Given the description of an element on the screen output the (x, y) to click on. 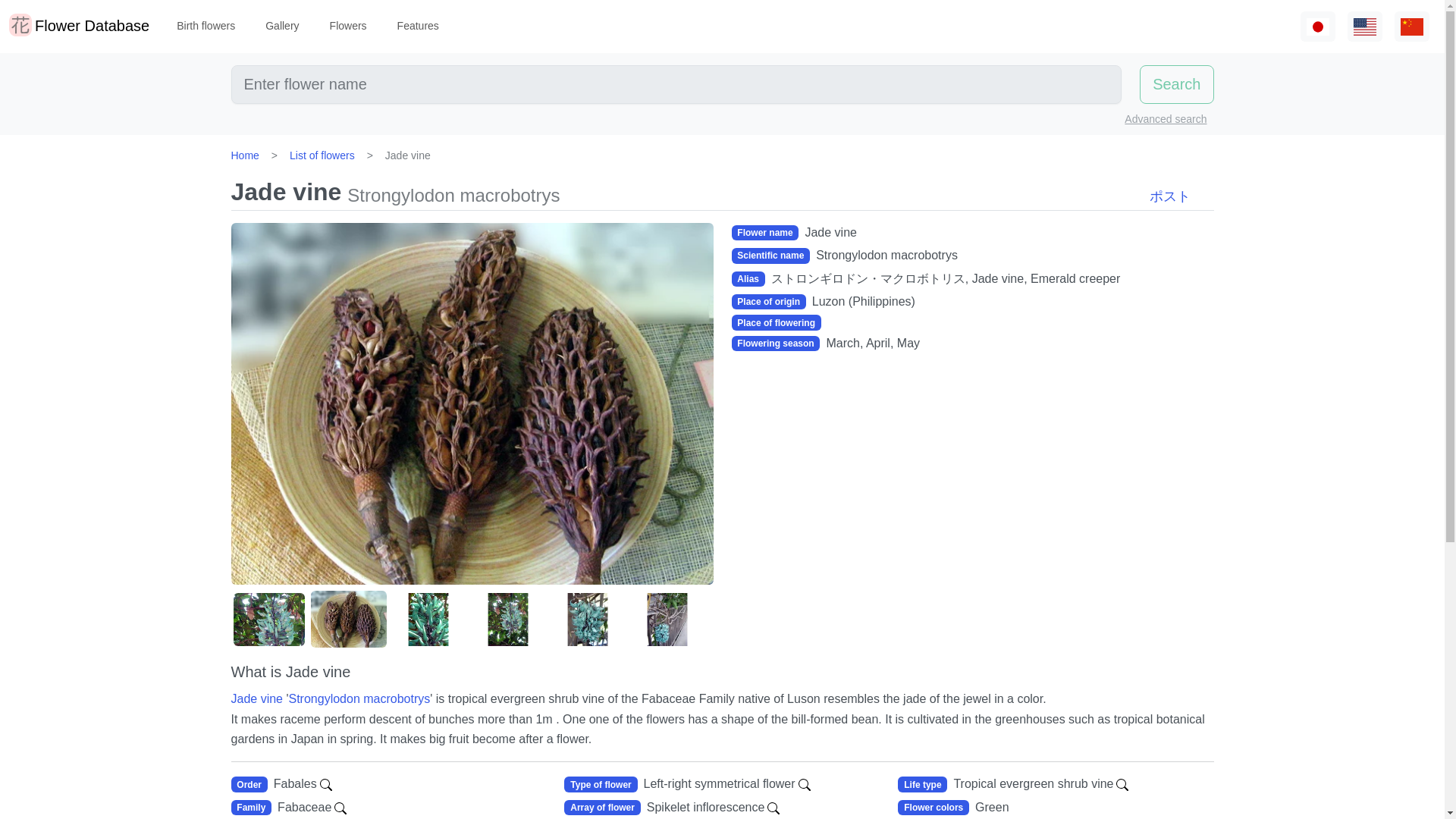
List of flowers (322, 155)
Jade vine (256, 698)
Advanced search (1165, 119)
Gallery (281, 25)
Features (418, 25)
Search (1176, 84)
Flowers (347, 25)
Strongylodon macrobotrys (358, 698)
Home (244, 155)
Birth flowers (205, 25)
